Given the description of an element on the screen output the (x, y) to click on. 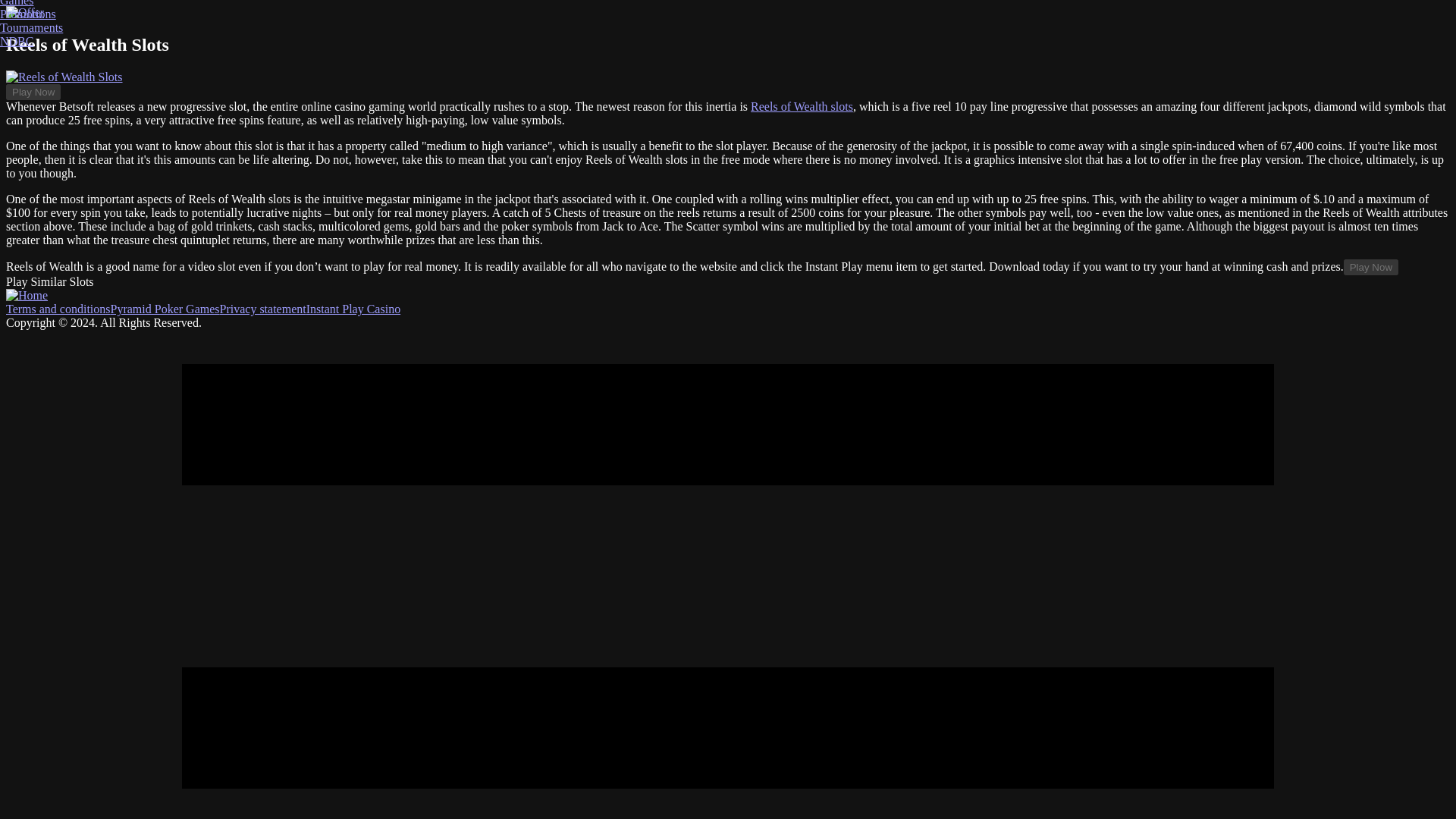
Instant Play Casino (352, 308)
Play Now (33, 91)
Privacy statement (262, 308)
Terms and conditions (57, 308)
Reels of Wealth slots (802, 106)
Play Now (1370, 267)
Pyramid Poker Games (164, 308)
